Given the description of an element on the screen output the (x, y) to click on. 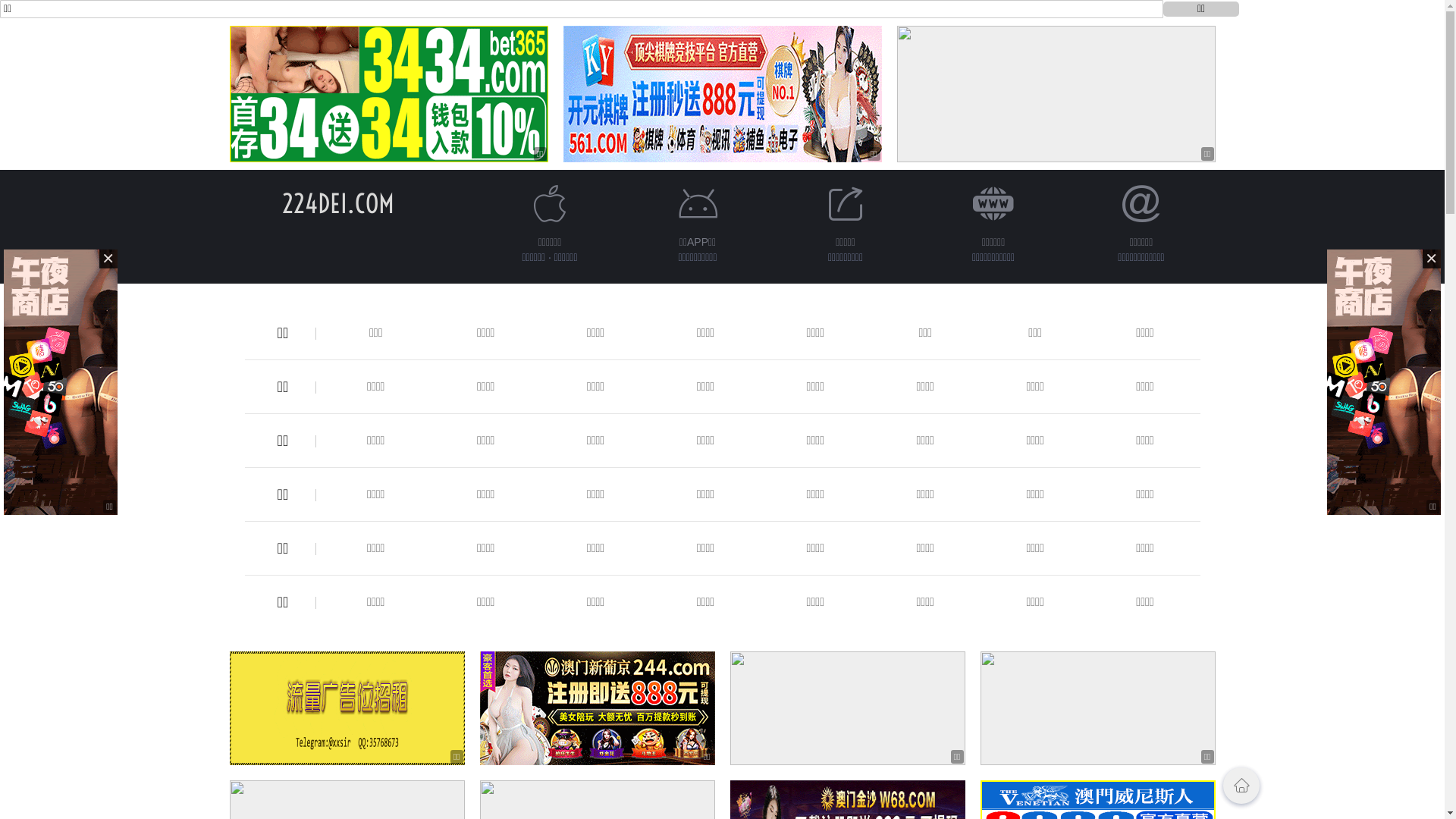
224DEI.COM Element type: text (338, 203)
